Given the description of an element on the screen output the (x, y) to click on. 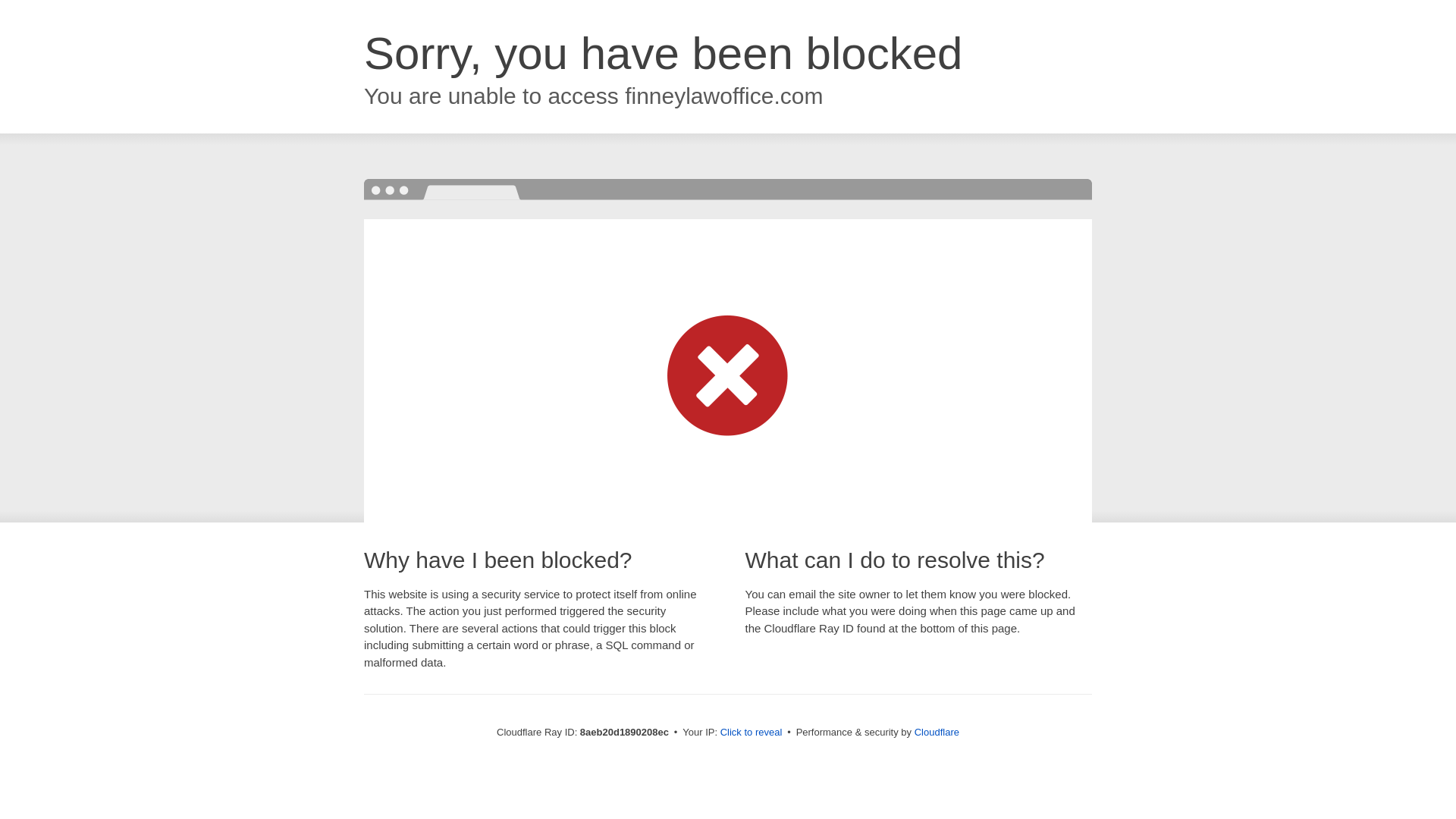
Click to reveal (751, 732)
Cloudflare (936, 731)
